Given the description of an element on the screen output the (x, y) to click on. 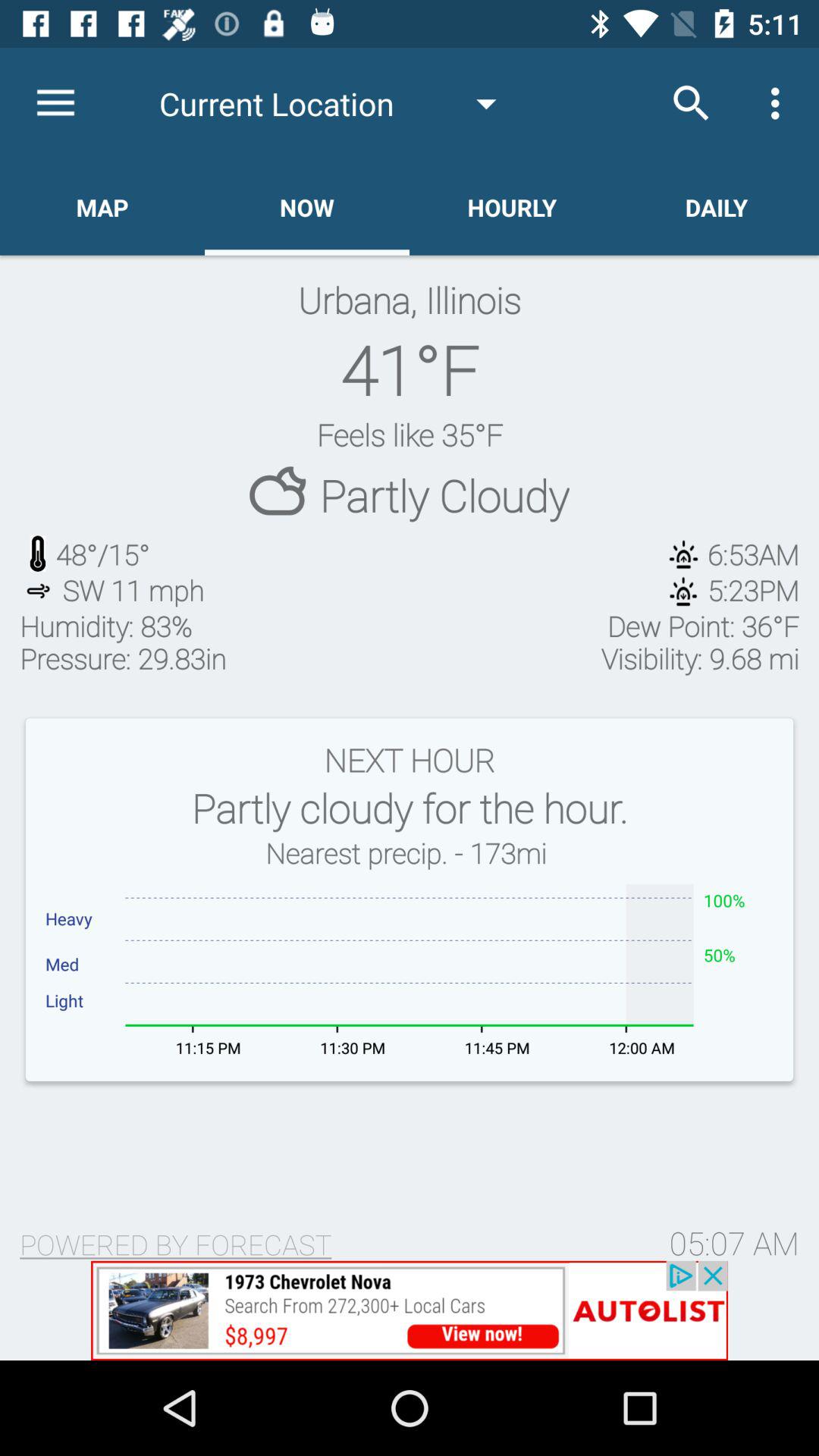
advertisement page (409, 1310)
